Given the description of an element on the screen output the (x, y) to click on. 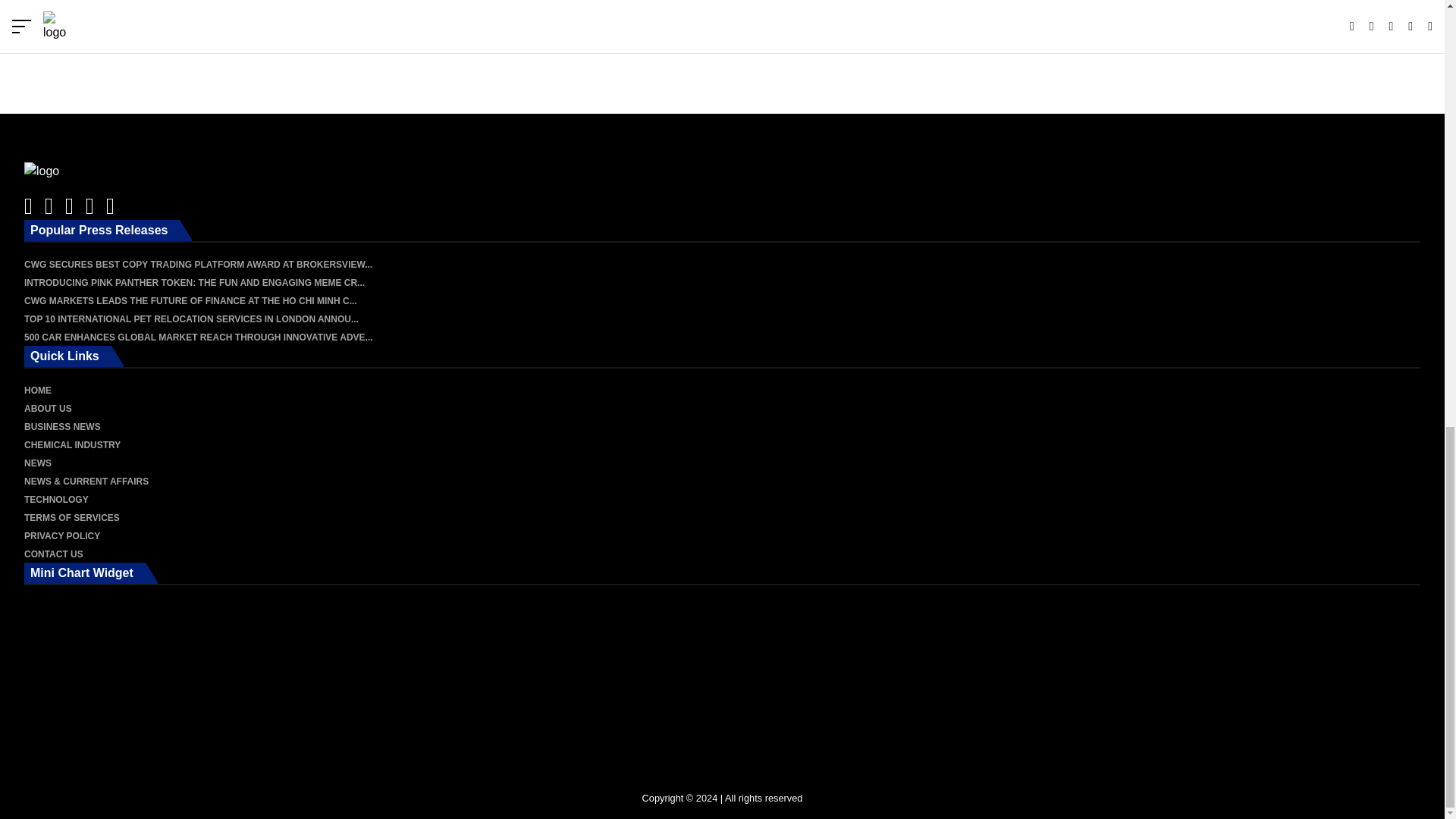
HOME (37, 389)
BUSINESS NEWS (62, 426)
CHEMICAL INDUSTRY (72, 444)
NEWS (37, 462)
events TradingView widget (722, 44)
ABOUT US (47, 408)
TECHNOLOGY (56, 499)
TERMS OF SERVICES (71, 517)
